Given the description of an element on the screen output the (x, y) to click on. 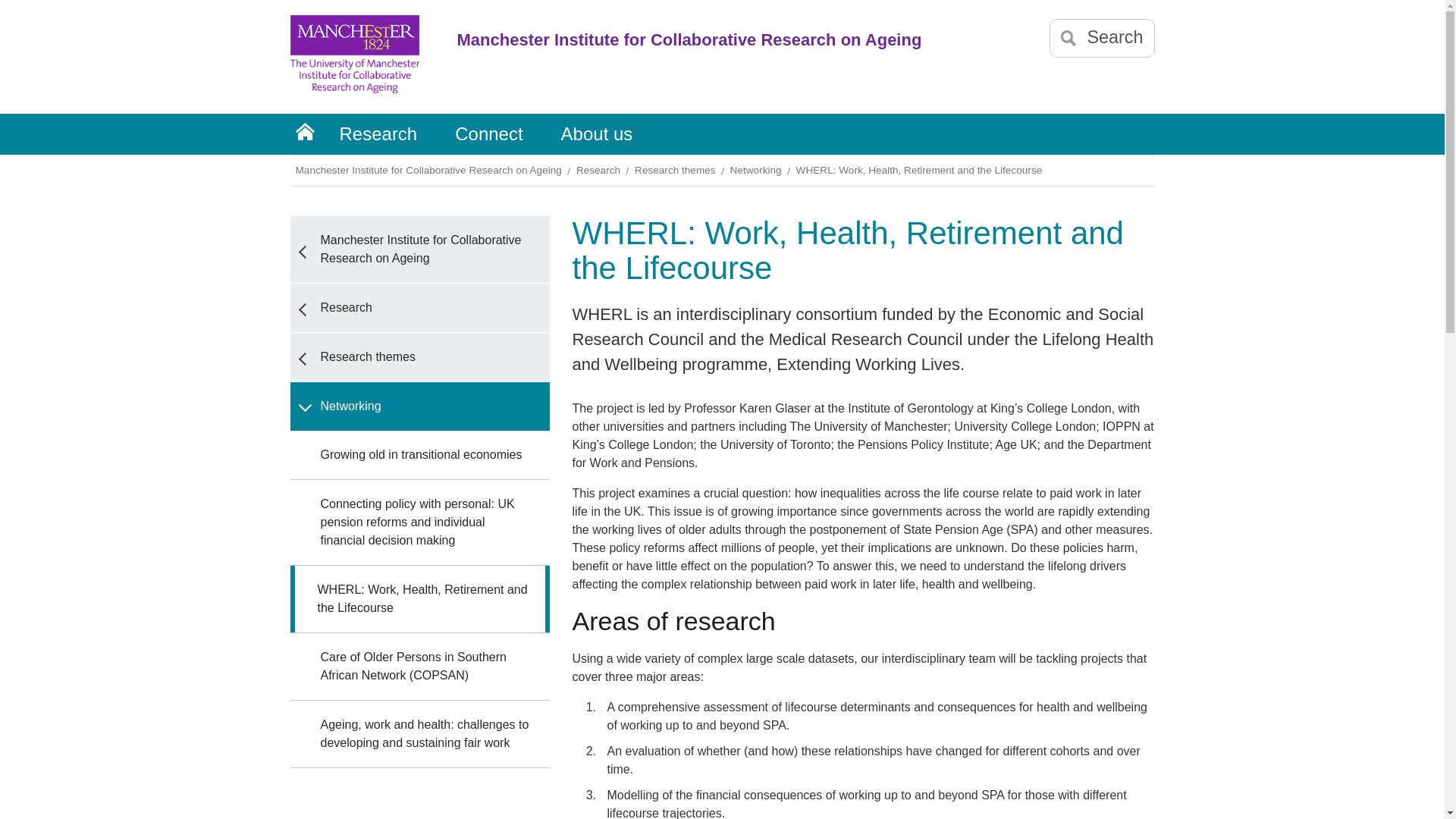
Manchester Institute for Collaborative Research on Ageing (418, 249)
Research themes (418, 356)
Research (418, 307)
WHERL: Work, Health, Retirement and the Lifecourse (920, 169)
Research themes (676, 169)
Growing old in transitional economies (418, 454)
Research (377, 133)
Search (1101, 37)
Research (599, 169)
Connect (488, 133)
